Given the description of an element on the screen output the (x, y) to click on. 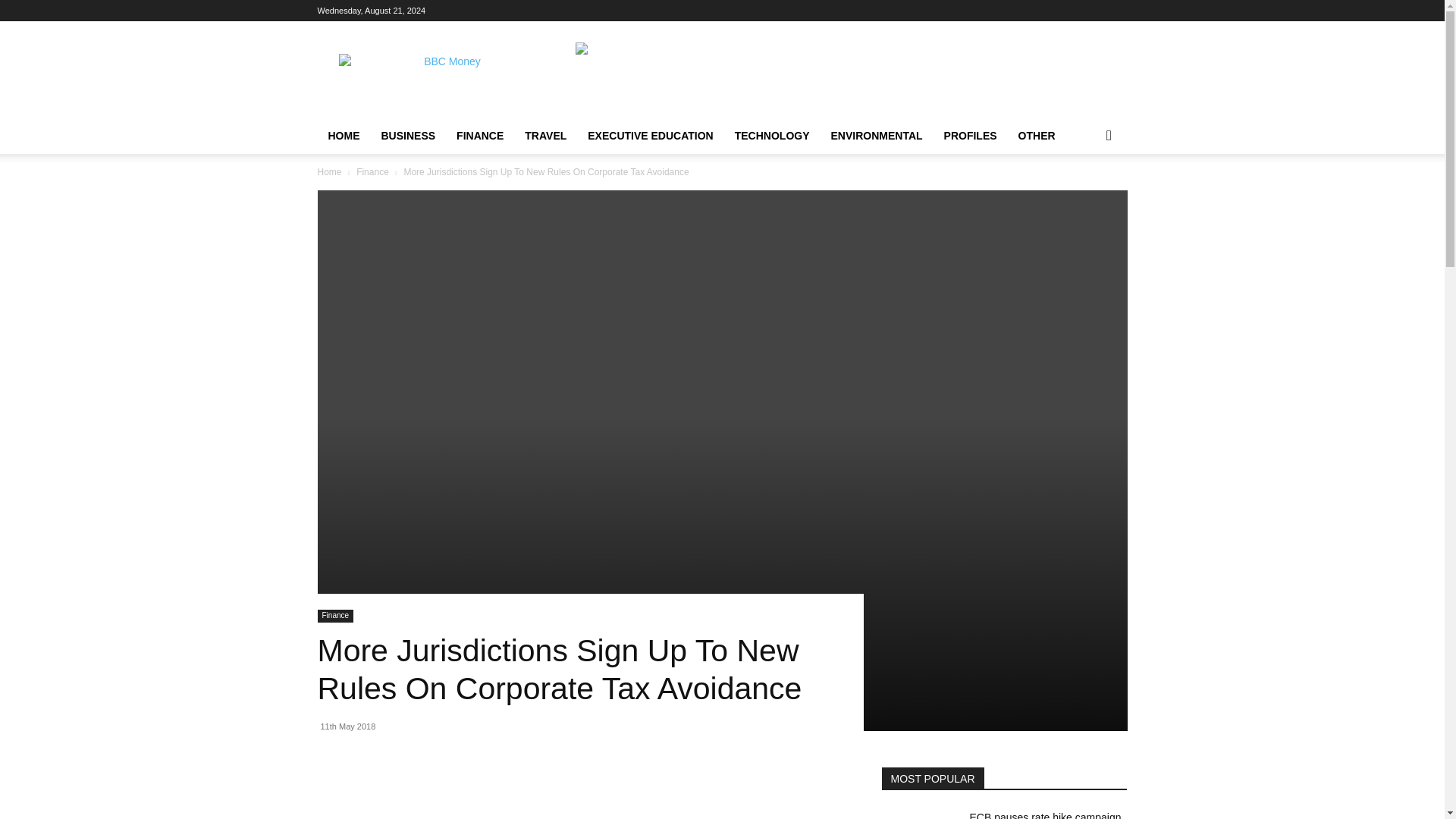
EXECUTIVE EDUCATION (649, 135)
FINANCE (479, 135)
BUSINESS (407, 135)
Spotlight on the latest trends in investment (445, 76)
PROFILES (970, 135)
TRAVEL (544, 135)
View all posts in Finance (372, 172)
HOME (343, 135)
ENVIRONMENTAL (877, 135)
OTHER (1036, 135)
